Given the description of an element on the screen output the (x, y) to click on. 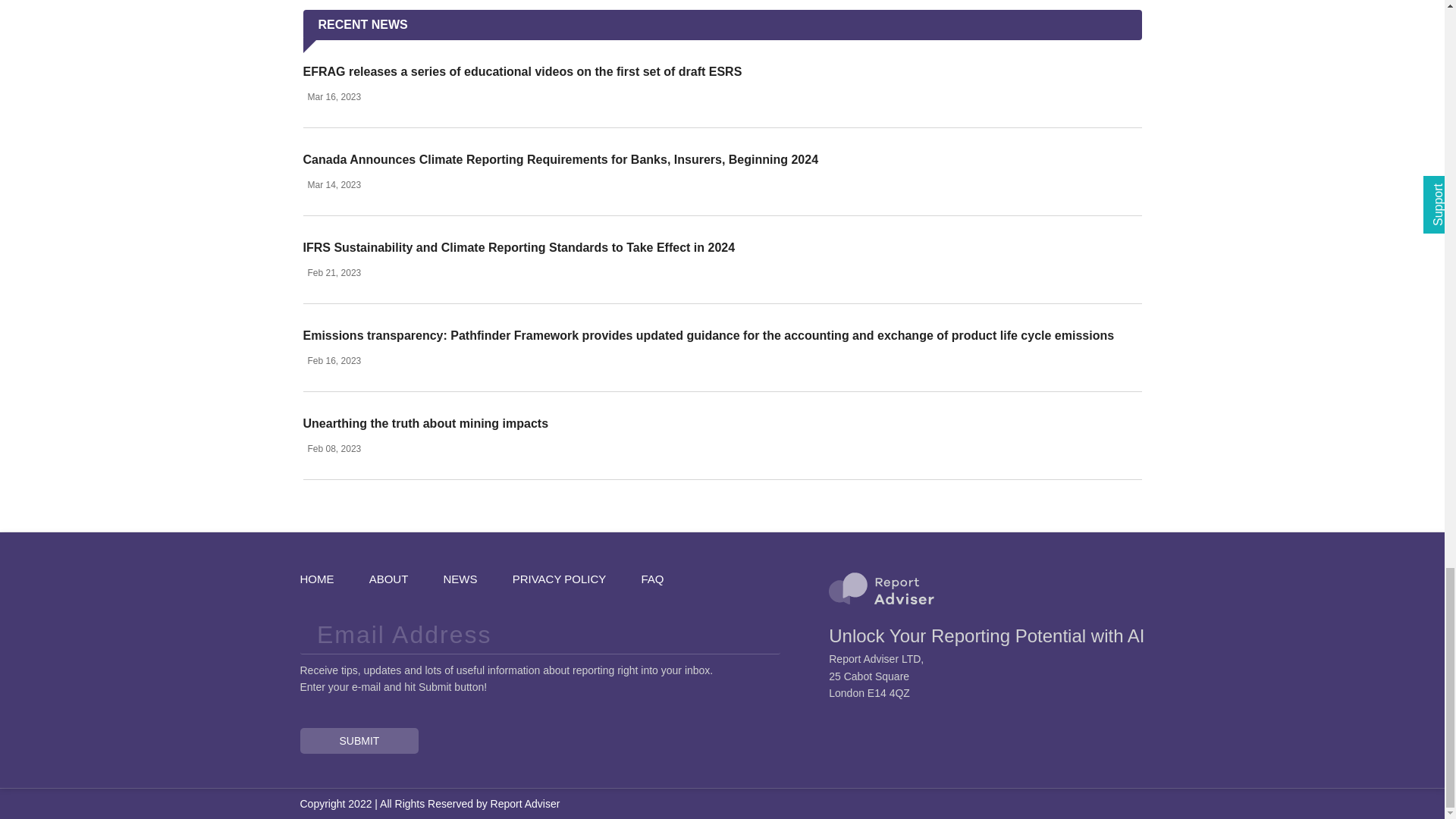
FAQ (652, 577)
Submit (359, 740)
HOME (316, 577)
Submit (359, 740)
PRIVACY POLICY (559, 577)
NEWS (460, 577)
